Given the description of an element on the screen output the (x, y) to click on. 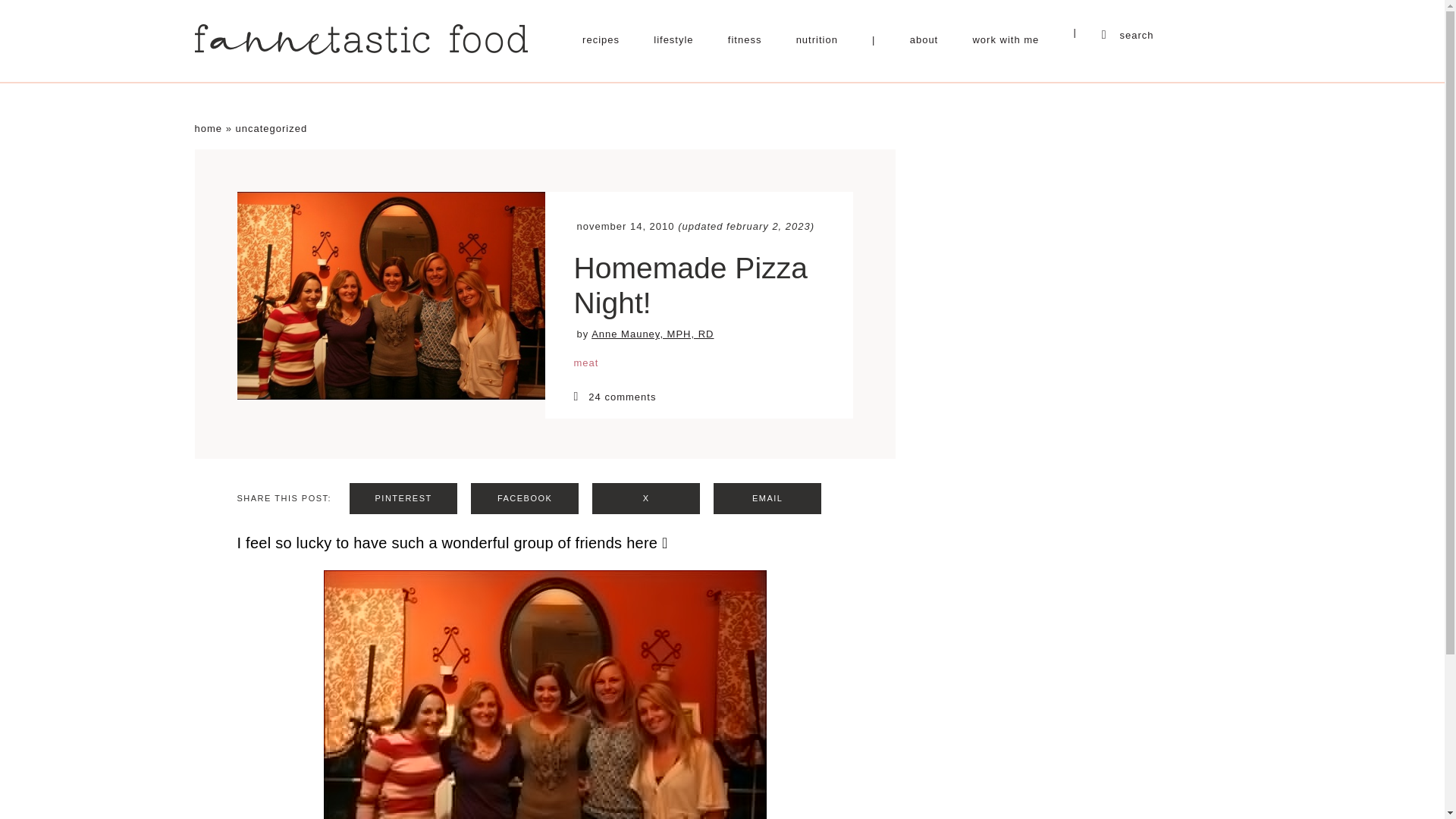
about (924, 39)
nutrition (817, 39)
EMAIL (767, 498)
work with me (1005, 39)
24 comments (698, 396)
X (646, 498)
uncategorized (270, 128)
home (207, 128)
recipes (601, 39)
Anne Mauney, MPH, RD (652, 333)
